Given the description of an element on the screen output the (x, y) to click on. 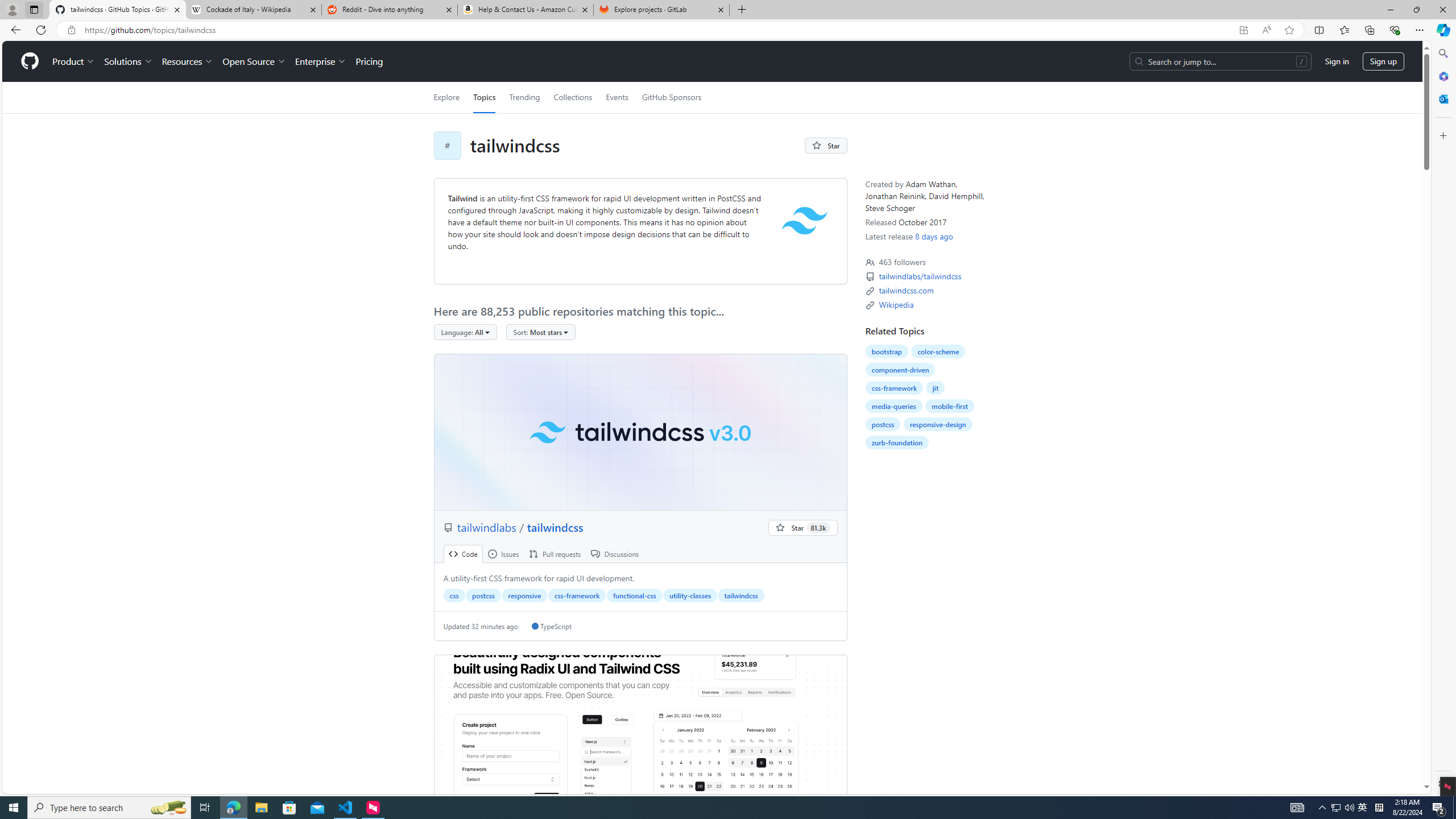
Events (616, 97)
mobile-first (950, 405)
Solutions (128, 60)
jit (935, 387)
Solutions (128, 60)
Cockade of Italy - Wikipedia (253, 9)
